Given the description of an element on the screen output the (x, y) to click on. 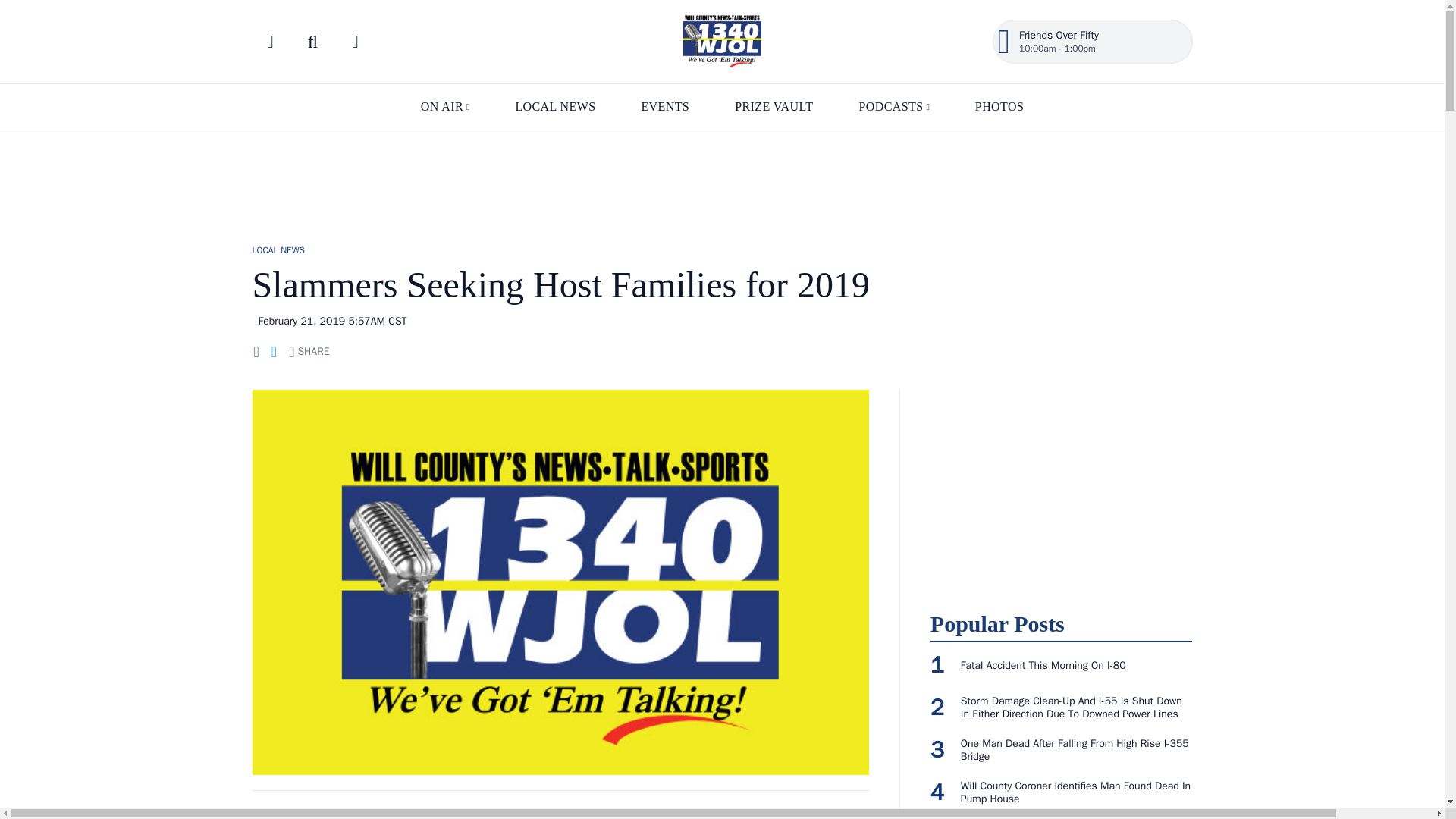
3rd party ad content (721, 179)
3rd party ad content (1060, 484)
